Given the description of an element on the screen output the (x, y) to click on. 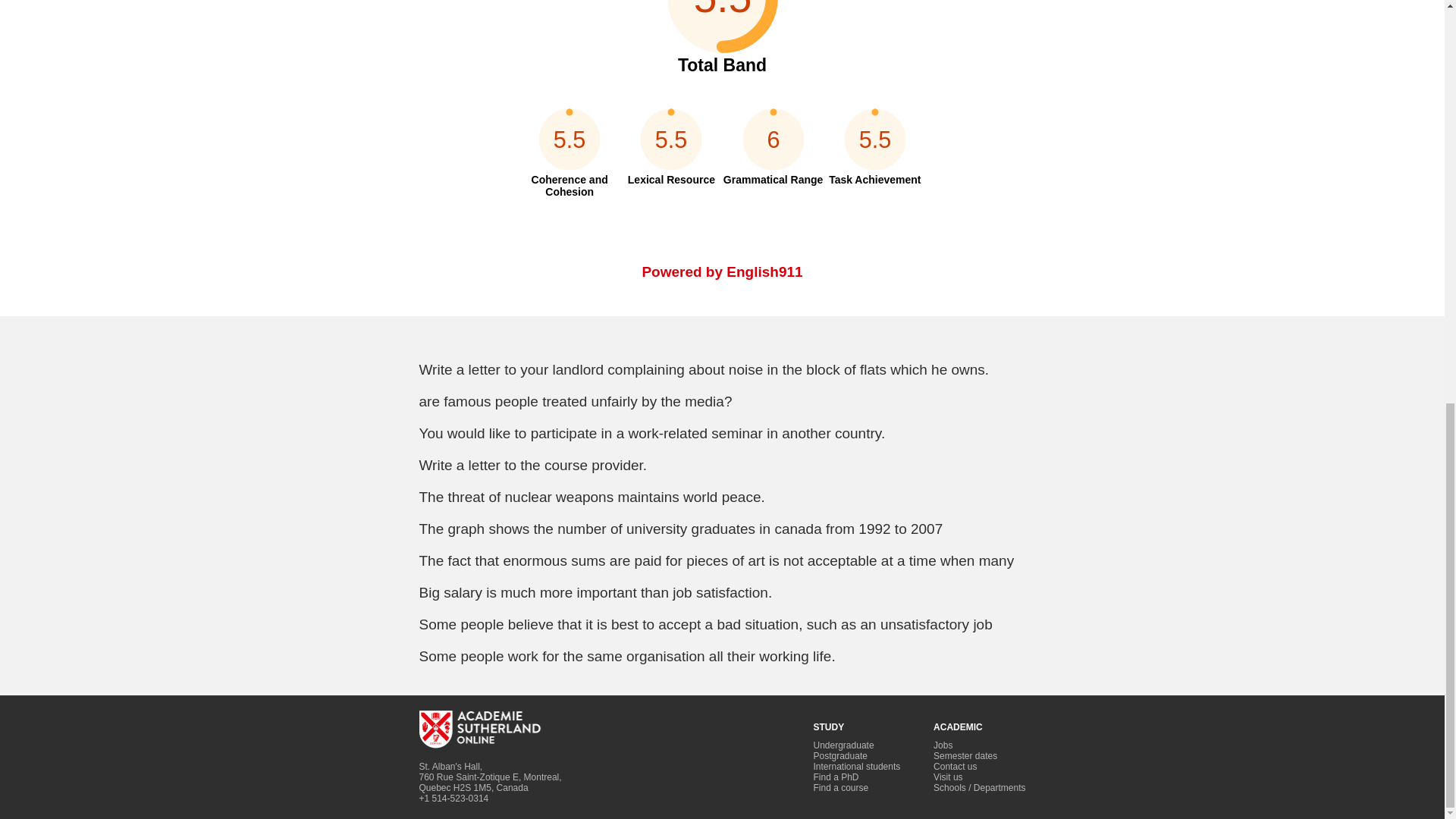
Big salary is much more important than job satisfaction. (722, 592)
Write a letter to the course provider. (722, 465)
are famous people treated unfairly by the media? (722, 401)
The threat of nuclear weapons maintains world peace. (722, 497)
